Given the description of an element on the screen output the (x, y) to click on. 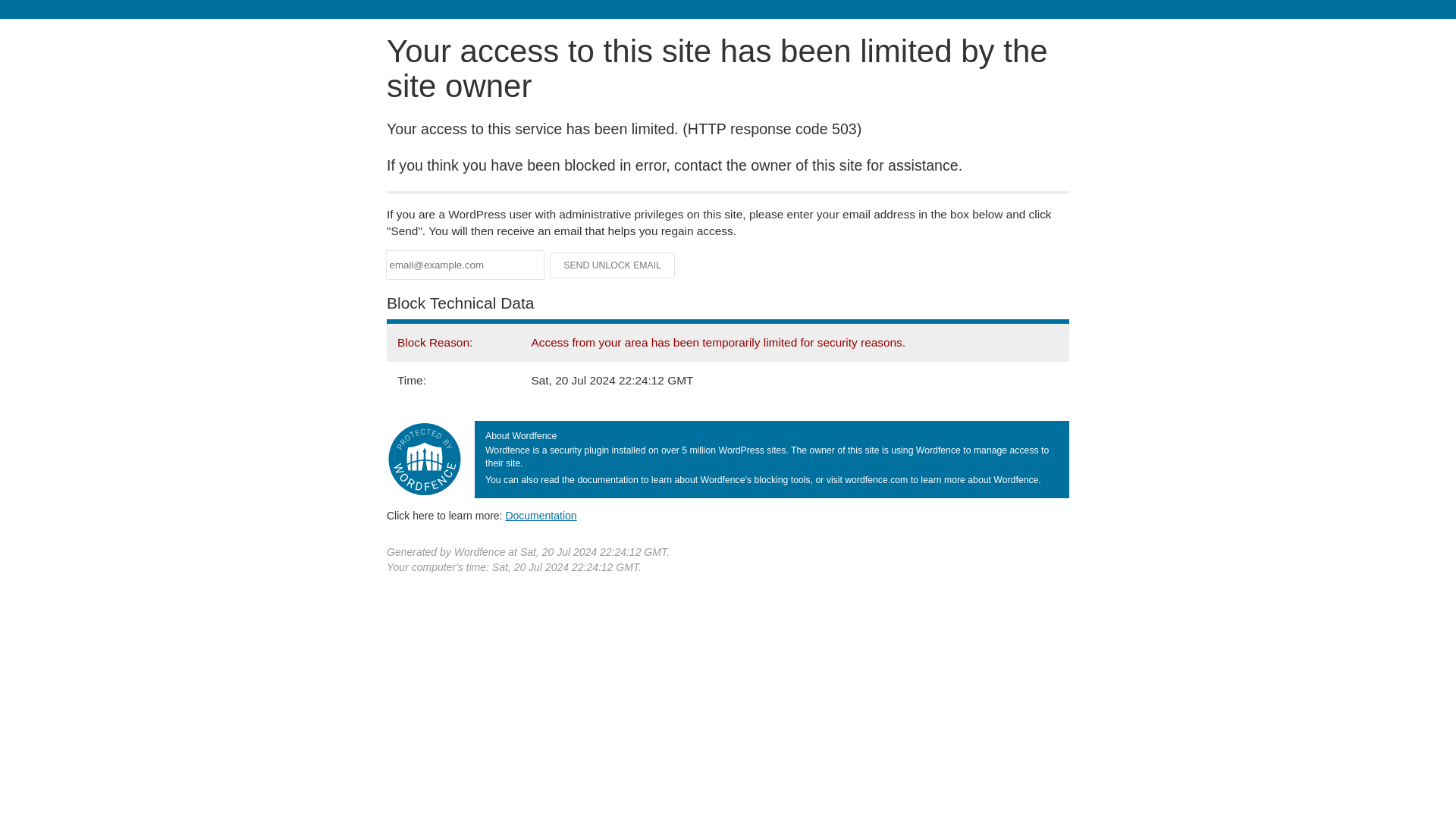
Documentation (540, 515)
Send Unlock Email (612, 265)
Send Unlock Email (612, 265)
